Given the description of an element on the screen output the (x, y) to click on. 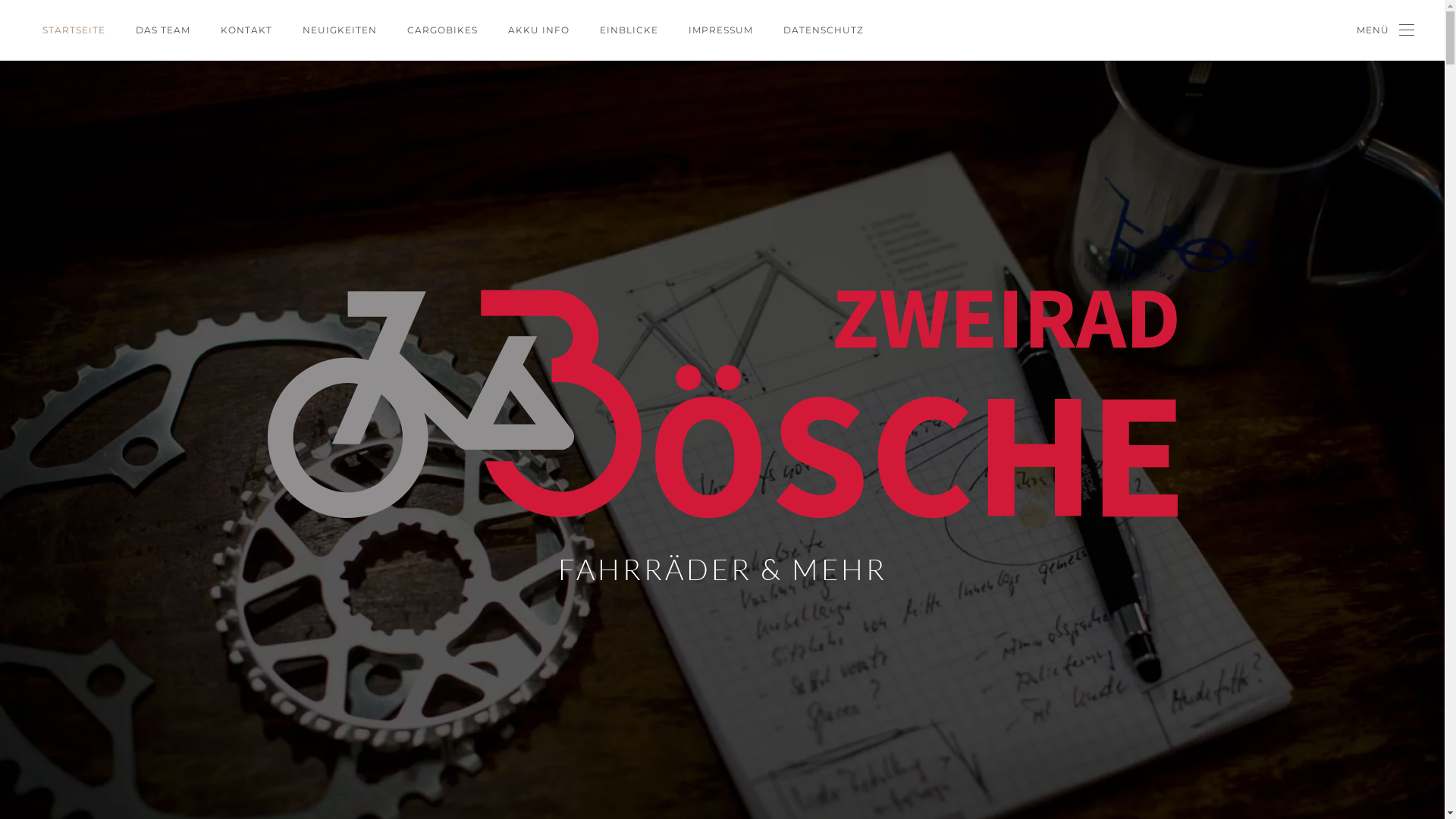
STARTSEITE Element type: text (73, 30)
EINBLICKE Element type: text (628, 30)
NEUIGKEITEN Element type: text (339, 30)
DAS TEAM Element type: text (162, 30)
KONTAKT Element type: text (246, 30)
IMPRESSUM Element type: text (720, 30)
AKKU INFO Element type: text (538, 30)
DATENSCHUTZ Element type: text (823, 30)
CARGOBIKES Element type: text (442, 30)
